Given the description of an element on the screen output the (x, y) to click on. 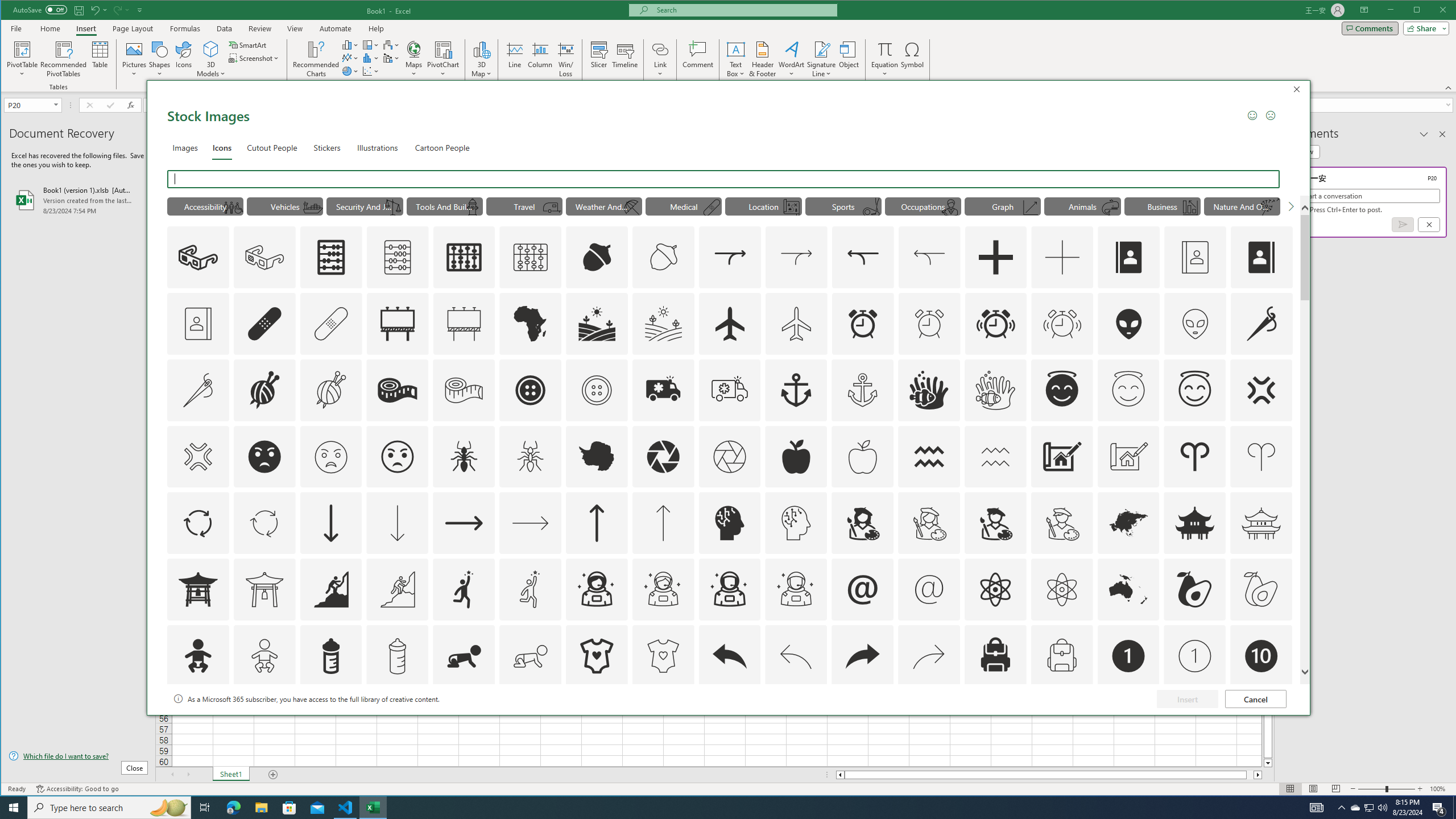
AutomationID: Icons_Agriculture (596, 323)
Insert Pie or Doughnut Chart (350, 70)
Insert Waterfall, Funnel, Stock, Surface, or Radar Chart (391, 44)
AutomationID: Icons_Badge8 (1061, 721)
AutomationID: Icons_Badge10_M (197, 721)
